Given the description of an element on the screen output the (x, y) to click on. 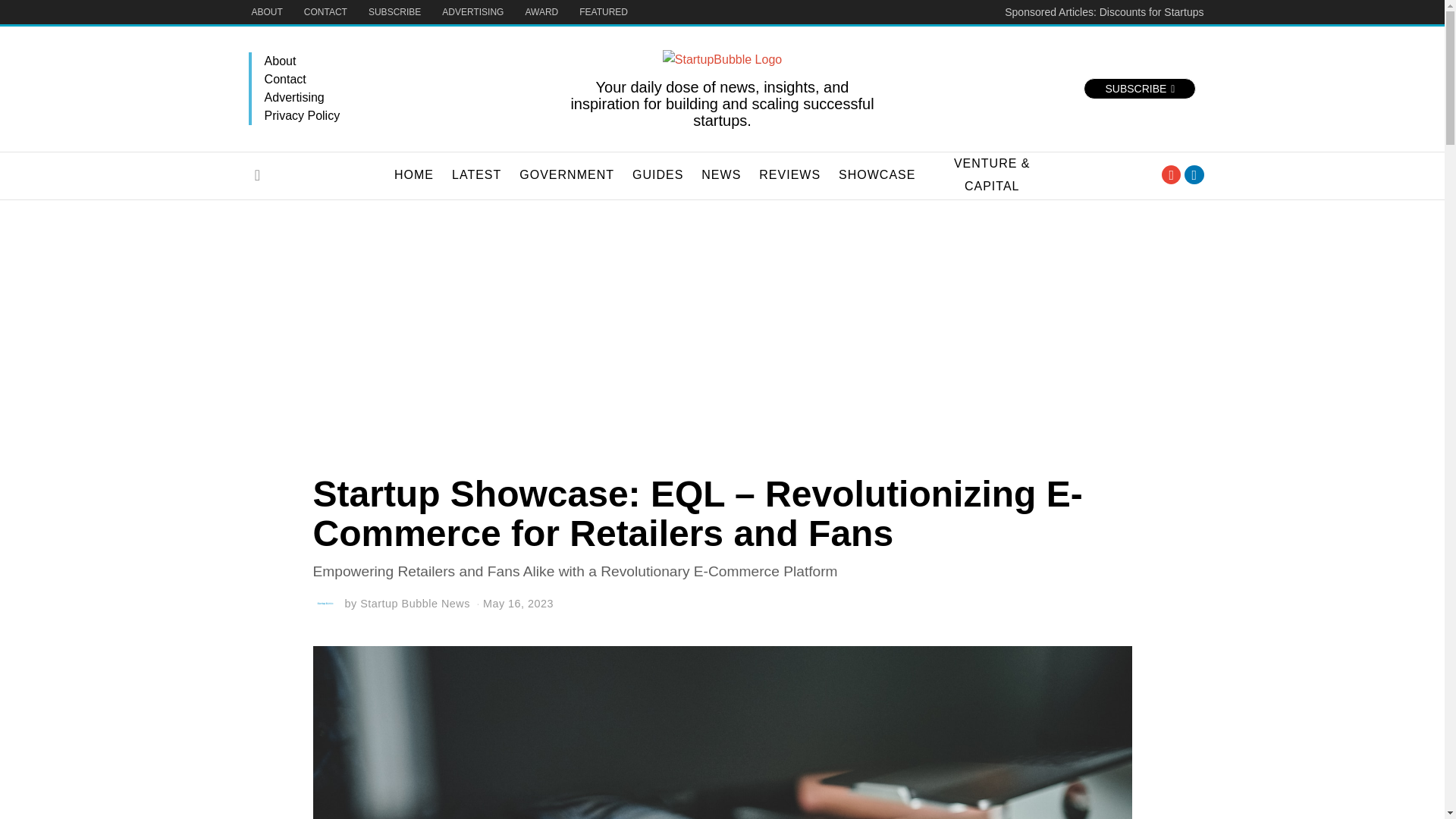
Privacy Policy (407, 116)
SUBSCRIBE (1139, 88)
Go (258, 174)
ABOUT (267, 12)
HOME (413, 174)
Contact (407, 79)
NEWS (721, 174)
StartupBubble Logo (721, 59)
REVIEWS (789, 174)
SUBSCRIBE (394, 12)
